Given the description of an element on the screen output the (x, y) to click on. 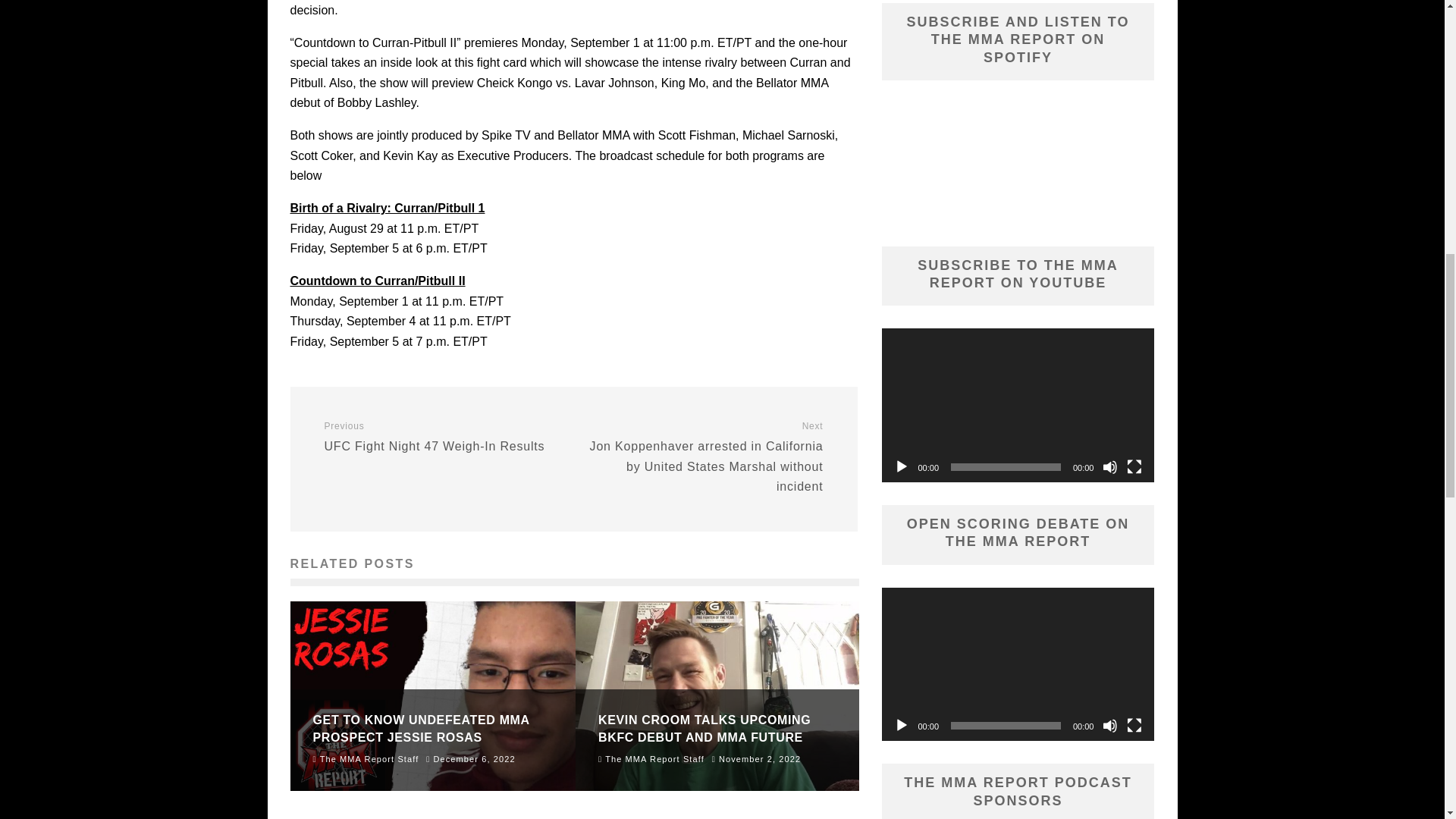
Fullscreen (1133, 467)
The MMA Report Staff (366, 758)
Mute (1110, 725)
Mute (1110, 467)
GET TO KNOW UNDEFEATED MMA PROSPECT JESSIE ROSAS (443, 436)
The MMA Report Staff (421, 727)
Play (651, 758)
KEVIN CROOM TALKS UPCOMING BKFC DEBUT AND MMA FUTURE (900, 467)
Play (704, 727)
Fullscreen (900, 725)
